Given the description of an element on the screen output the (x, y) to click on. 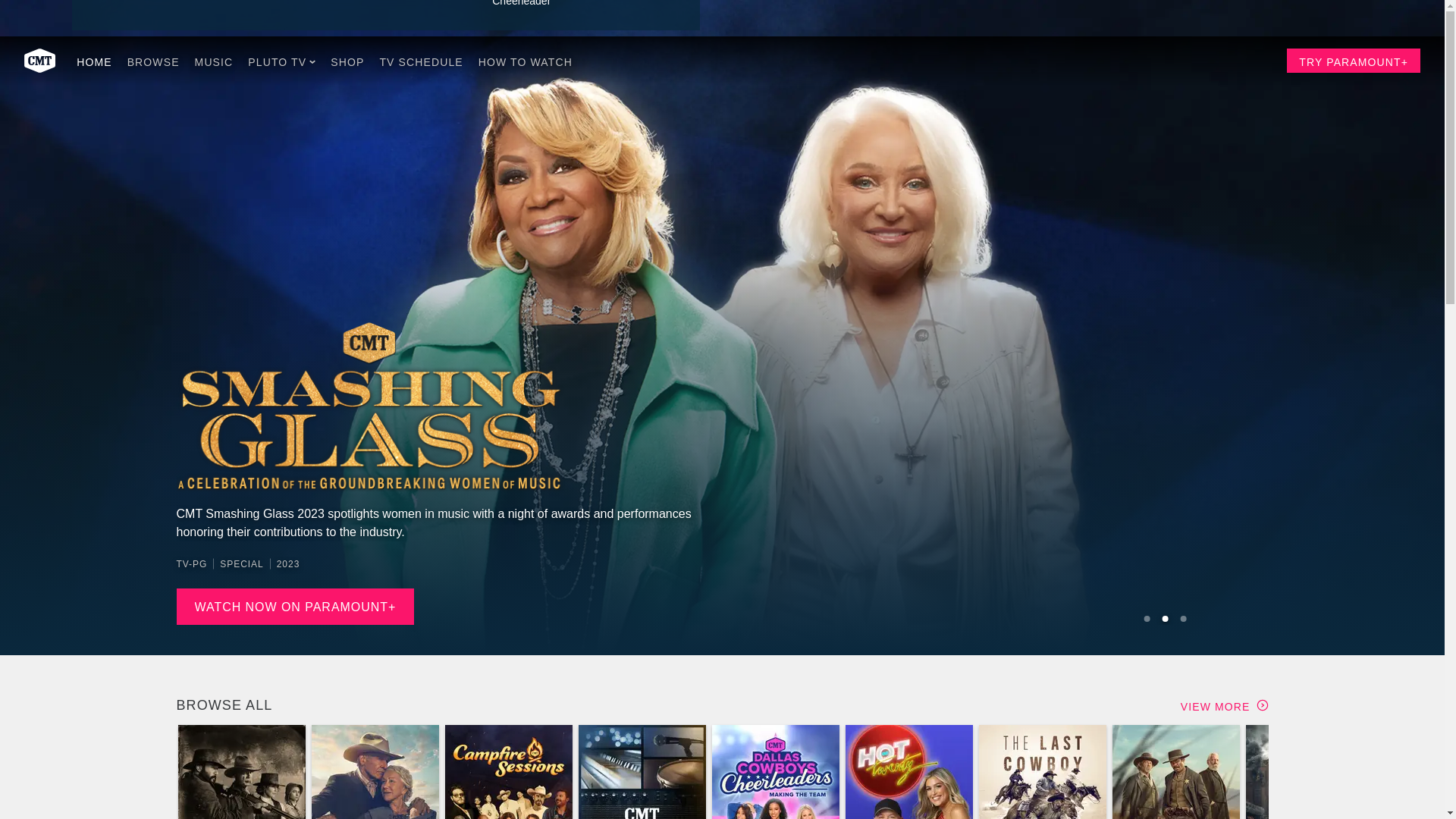
Watch CMT Dallas Cowboys Cheerleader (582, 7)
TV SCHEDULE (420, 60)
VIEW MORE (1224, 705)
PLUTO TV (281, 60)
HOW TO WATCH (525, 60)
BROWSE (153, 60)
MUSIC (213, 60)
ArrowCircle-icon (1261, 705)
Chevron-icon (311, 61)
